Given the description of an element on the screen output the (x, y) to click on. 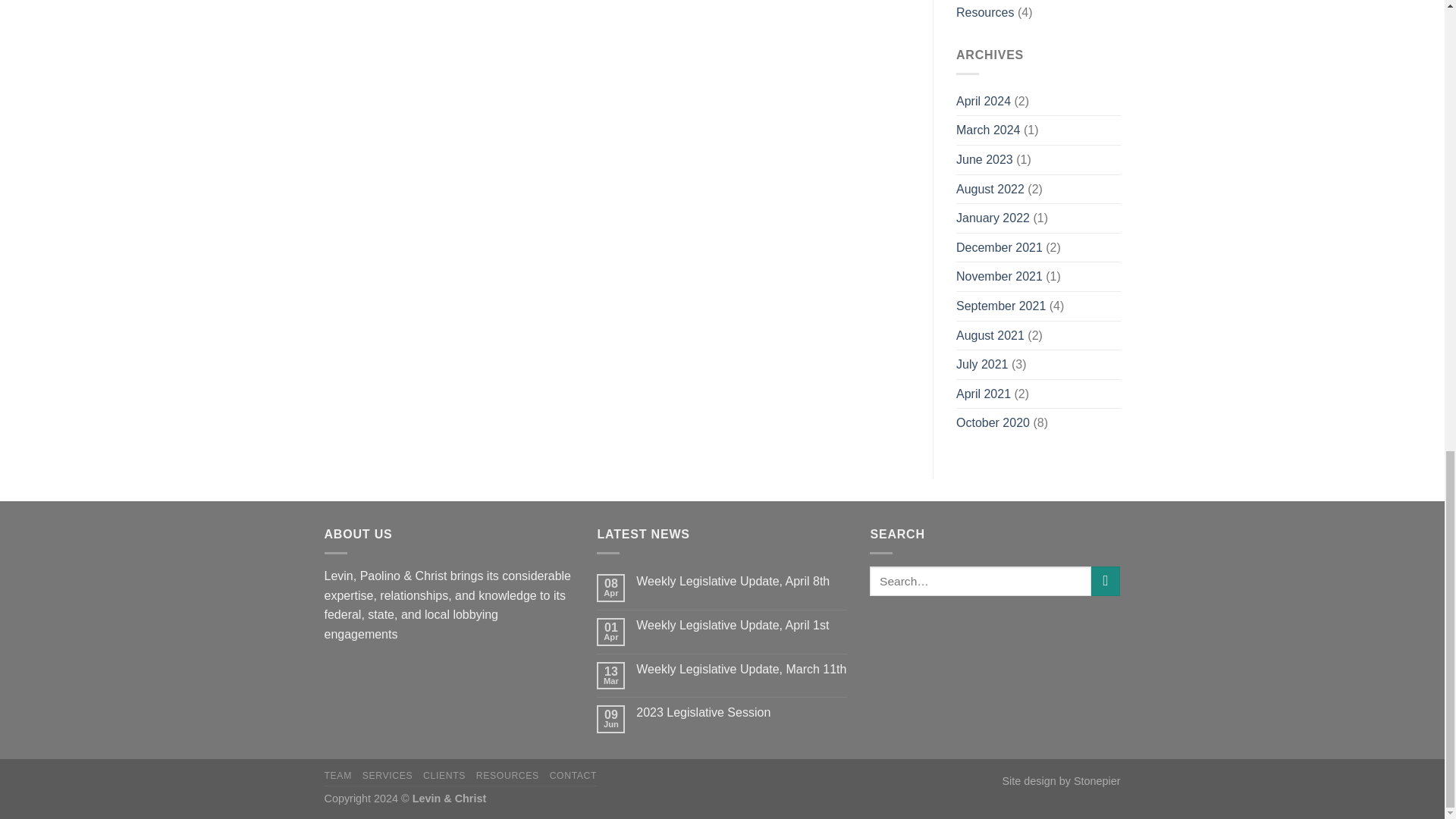
Weekly Legislative Update, April 1st (741, 625)
Weekly Legislative Update, March 11th (741, 668)
Weekly Legislative Update, April 8th (741, 581)
